Given the description of an element on the screen output the (x, y) to click on. 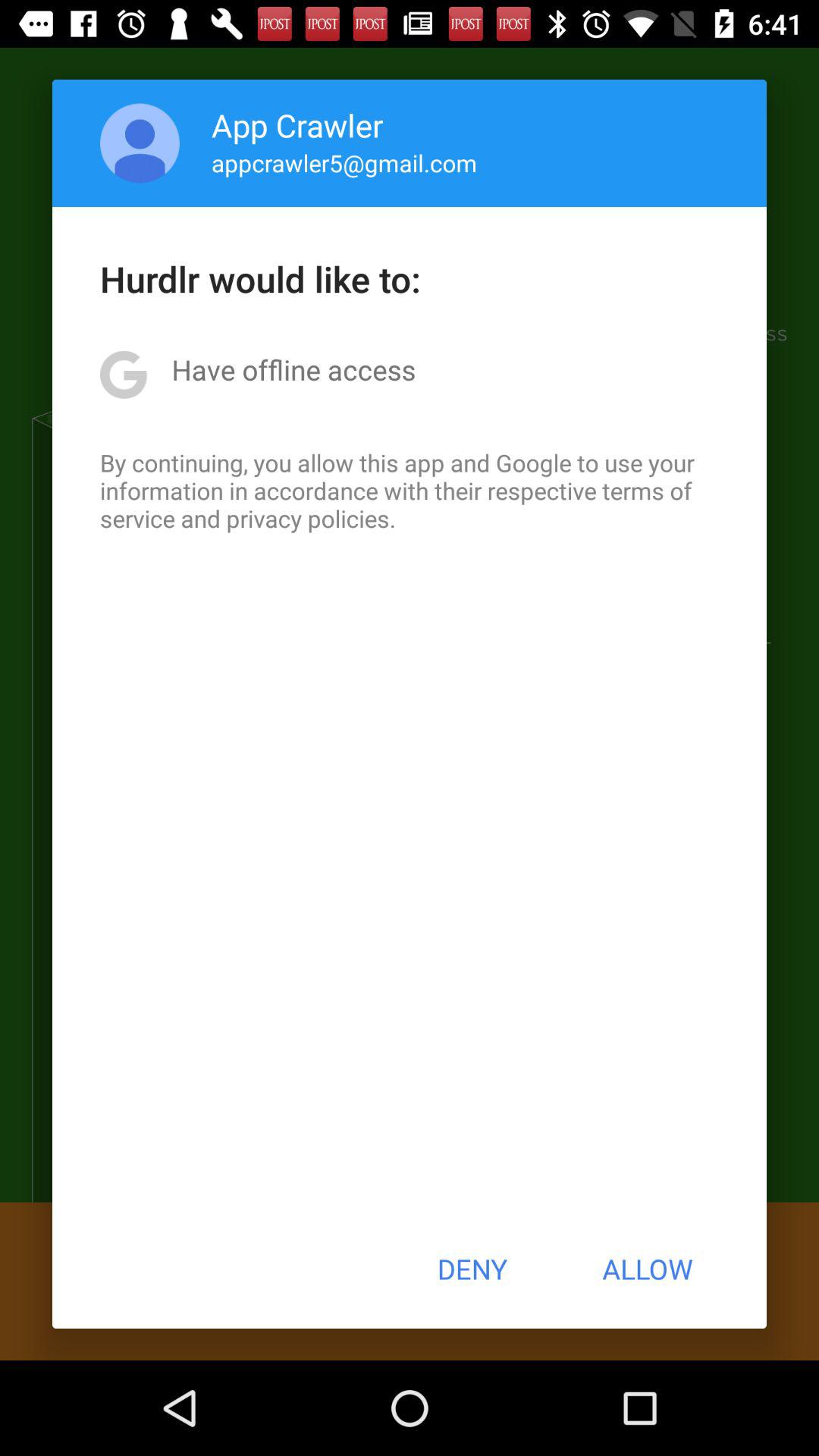
turn on button next to allow item (471, 1268)
